Given the description of an element on the screen output the (x, y) to click on. 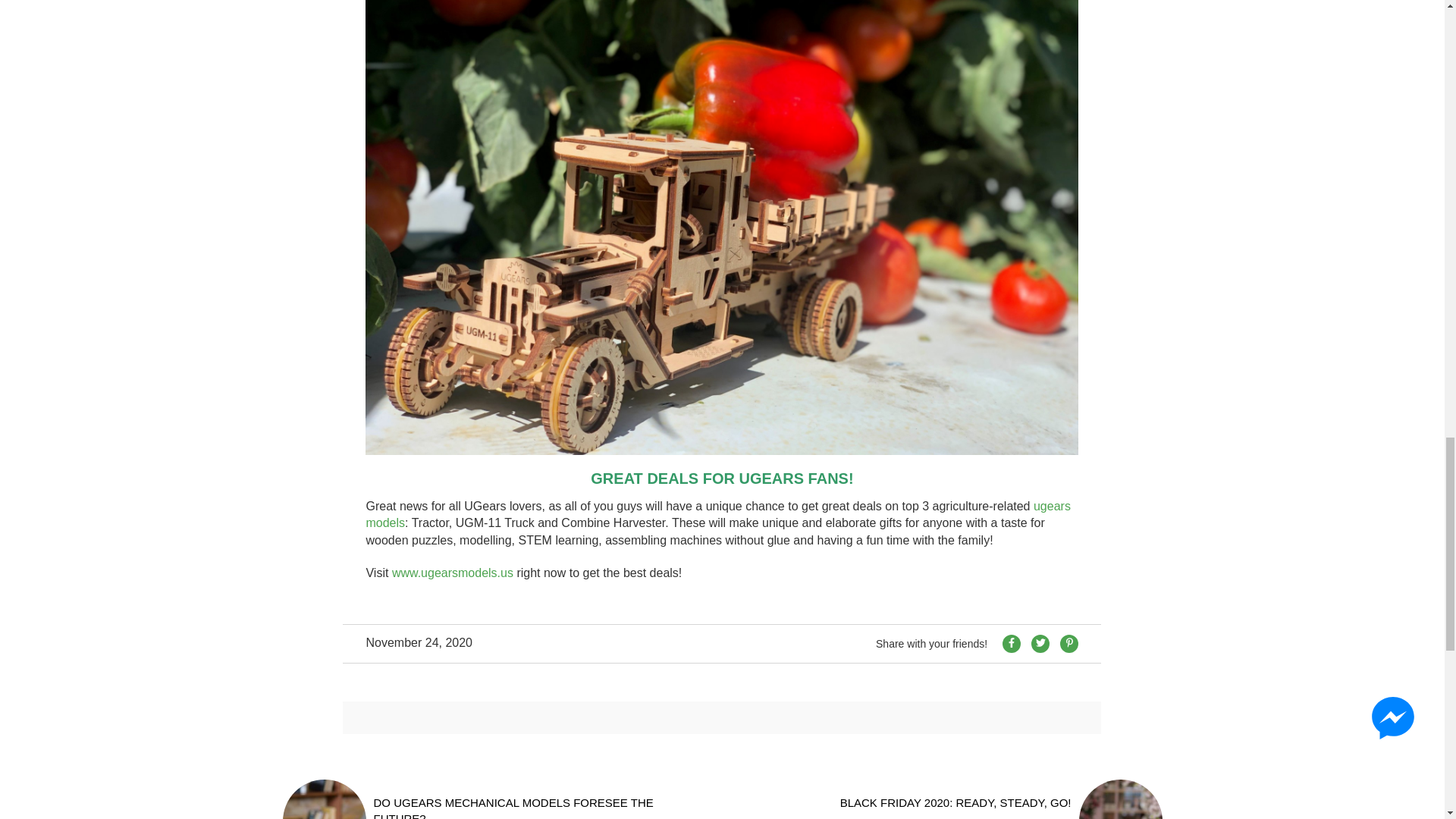
Share on Pinterest (1068, 643)
www.ugearsmodels.us (452, 572)
ugears models (717, 514)
Share on Facebook (1011, 643)
Share on Twitter (1039, 643)
